Given the description of an element on the screen output the (x, y) to click on. 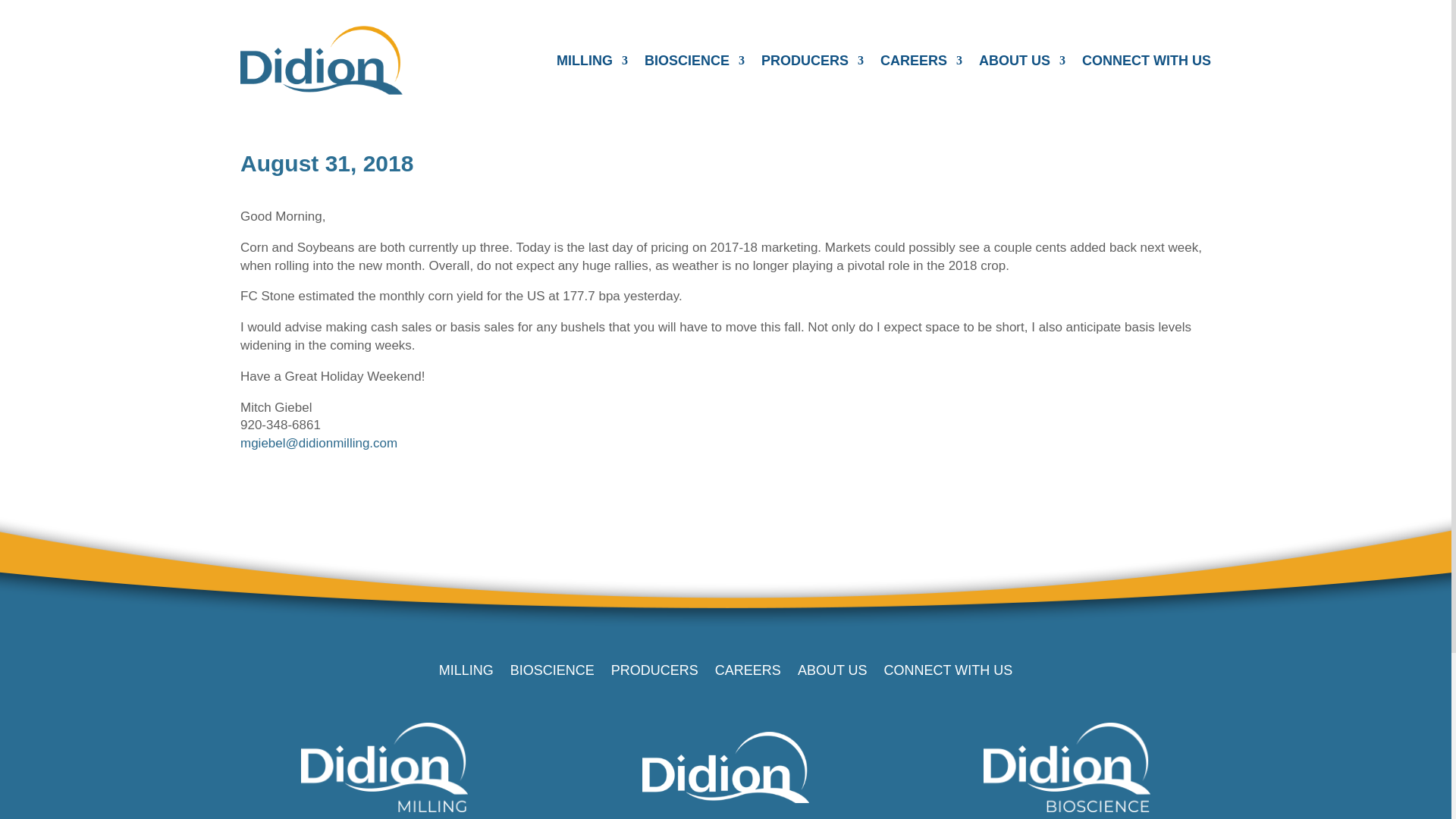
CAREERS (921, 63)
ABOUT US (1021, 63)
didion-bioscience (1067, 767)
didion-milling (384, 767)
MILLING (591, 63)
CONNECT WITH US (1146, 63)
didion-logo-white (725, 767)
first-level (1146, 63)
PRODUCERS (812, 63)
BIOSCIENCE (694, 63)
